Given the description of an element on the screen output the (x, y) to click on. 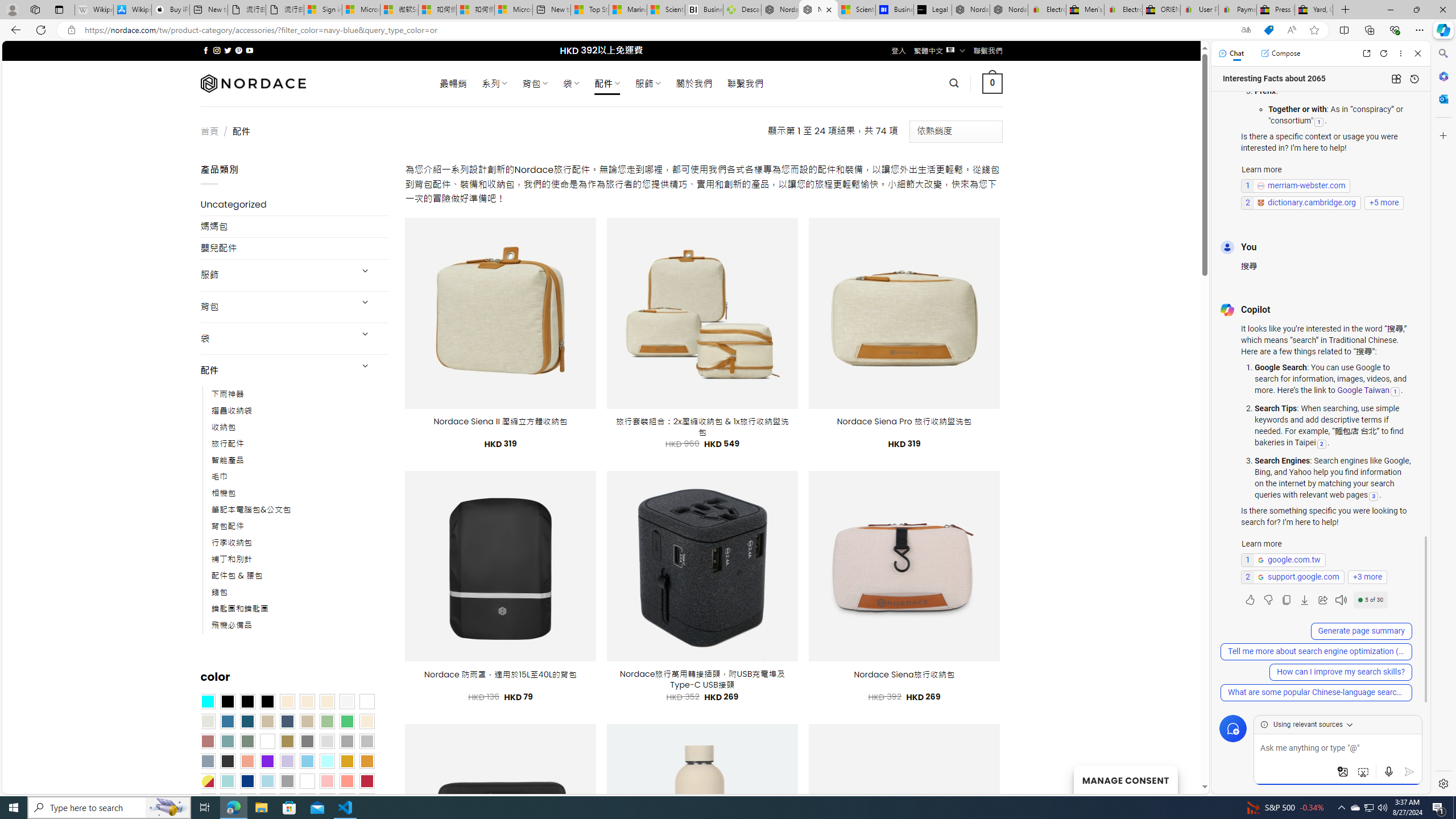
Cream (327, 701)
Compose (1280, 52)
